Given the description of an element on the screen output the (x, y) to click on. 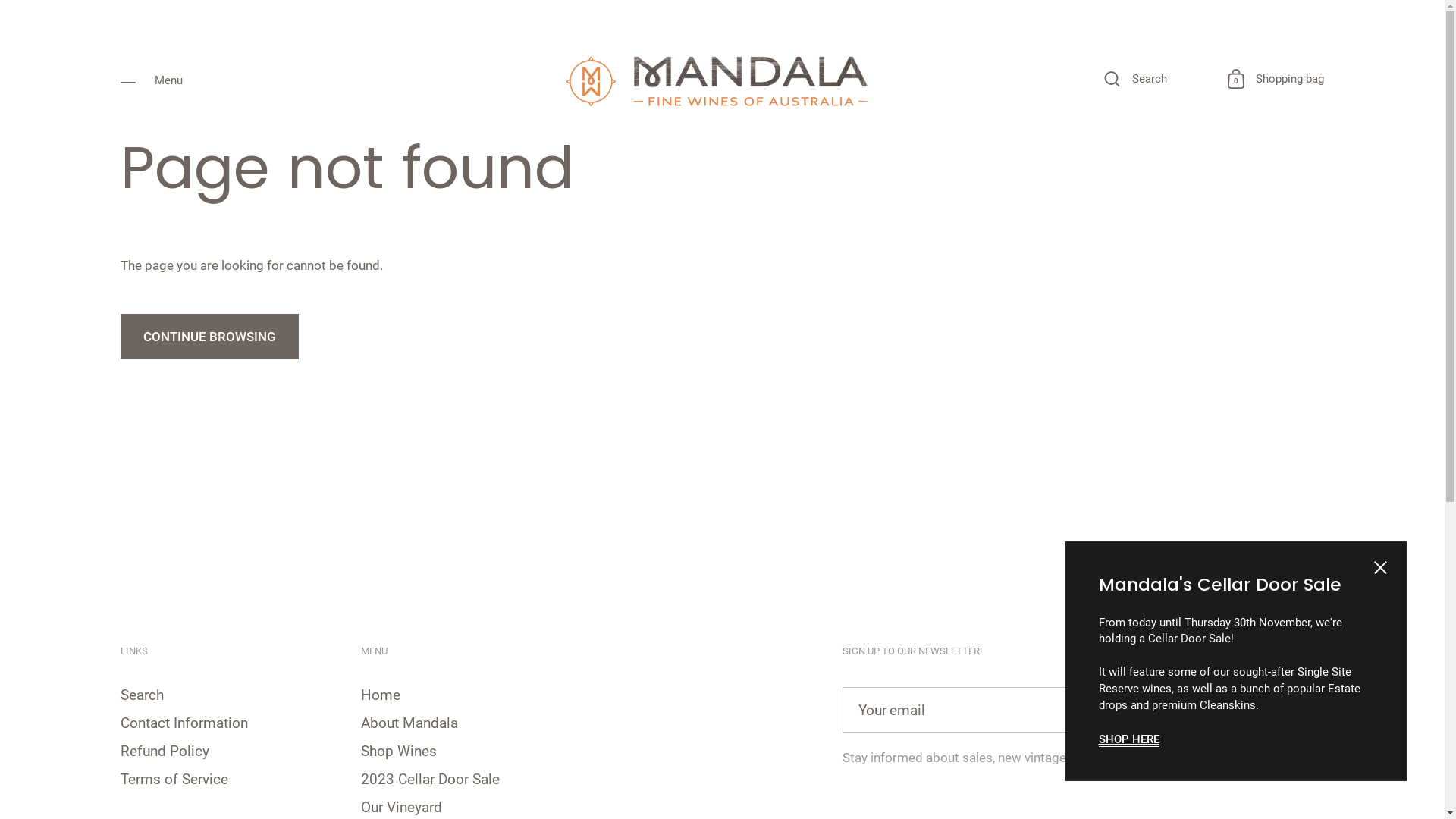
Mandala Yarra Valley Element type: hover (722, 80)
Menu Element type: text (151, 80)
Terms of Service Element type: text (174, 780)
Search Element type: text (141, 696)
2023 Cellar Door Sale Element type: text (429, 780)
Our Vineyard Element type: text (401, 808)
Close Element type: text (1380, 570)
Skip to content Element type: text (0, 136)
About Mandala Element type: text (409, 724)
0
Shopping bag Element type: text (1275, 80)
Contact Information Element type: text (183, 724)
Refund Policy Element type: text (164, 752)
SHOP HERE Element type: text (1128, 739)
Submit Element type: text (1291, 709)
Search Element type: text (1135, 80)
Shop Wines Element type: text (398, 752)
Home Element type: text (380, 696)
CONTINUE BROWSING Element type: text (209, 336)
